Given the description of an element on the screen output the (x, y) to click on. 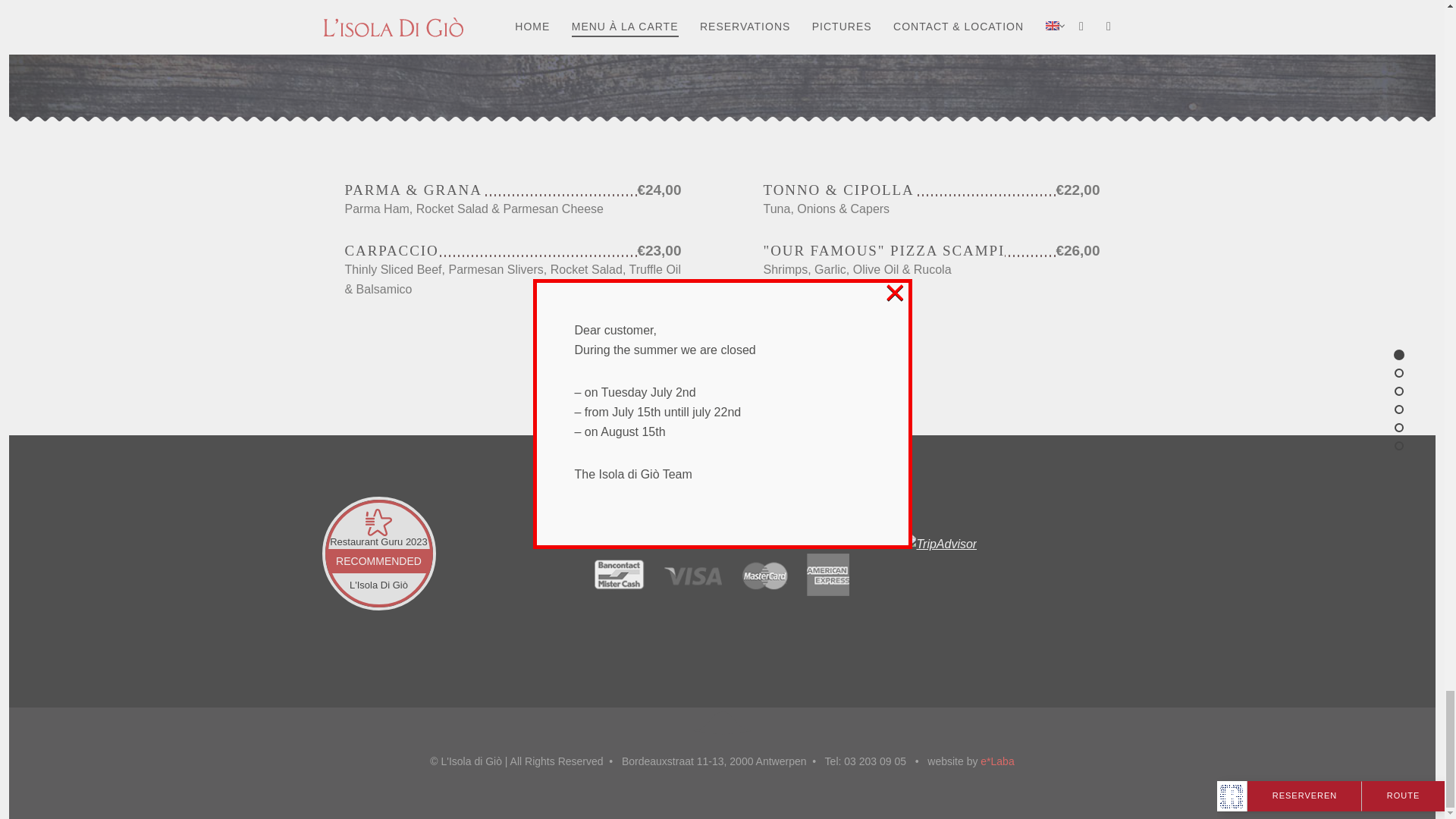
Restaurant Guru 2023 (379, 541)
